Given the description of an element on the screen output the (x, y) to click on. 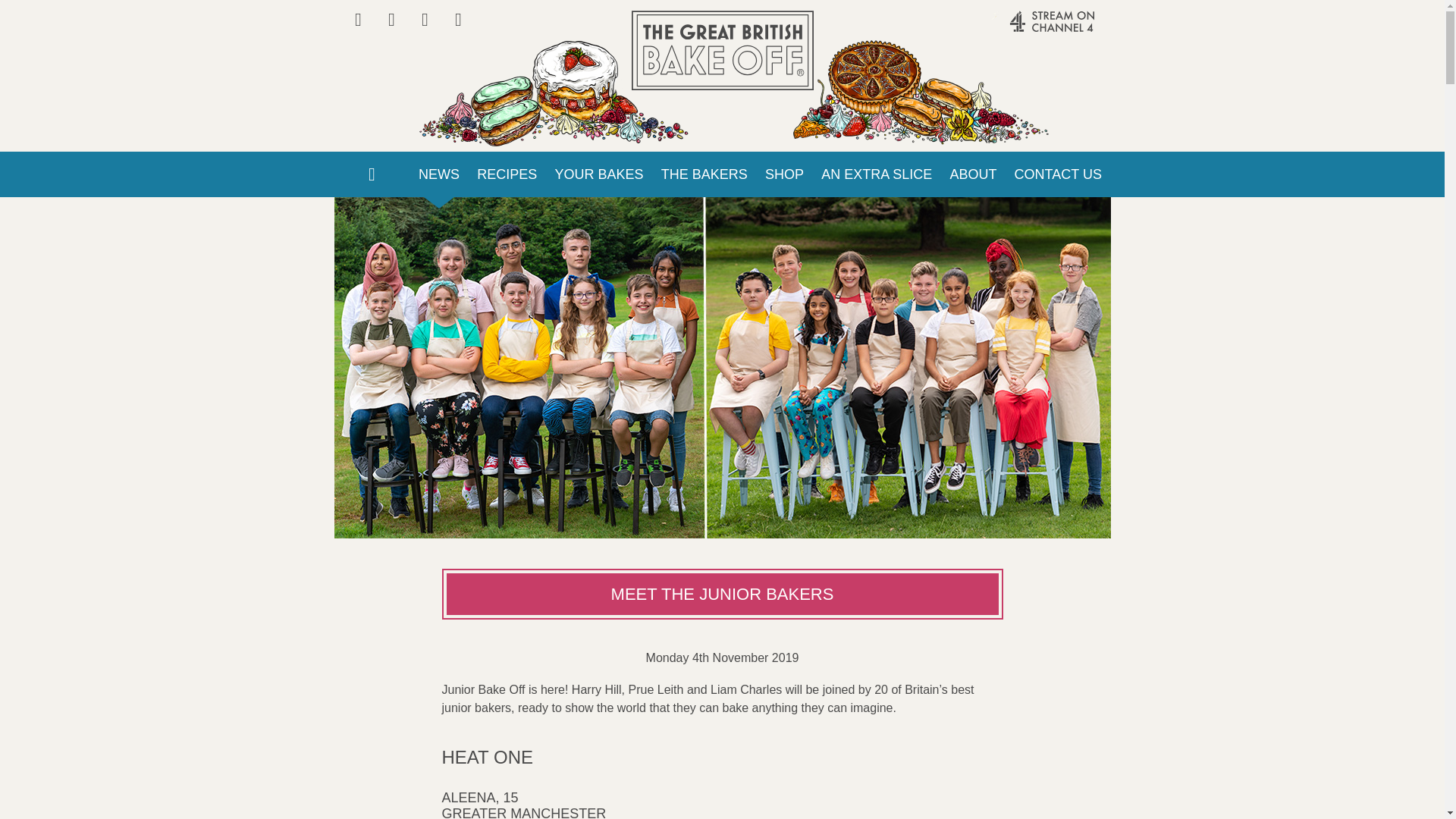
HOME (371, 174)
The Great British Bake Off (721, 50)
YOUR BAKES (599, 174)
STREAM ON CHANNEL 4 (1021, 29)
RECIPES (507, 174)
AN EXTRA SLICE (876, 174)
THE BAKERS (703, 174)
SHOP (783, 174)
CONTACT US (1058, 174)
ABOUT (973, 174)
